Given the description of an element on the screen output the (x, y) to click on. 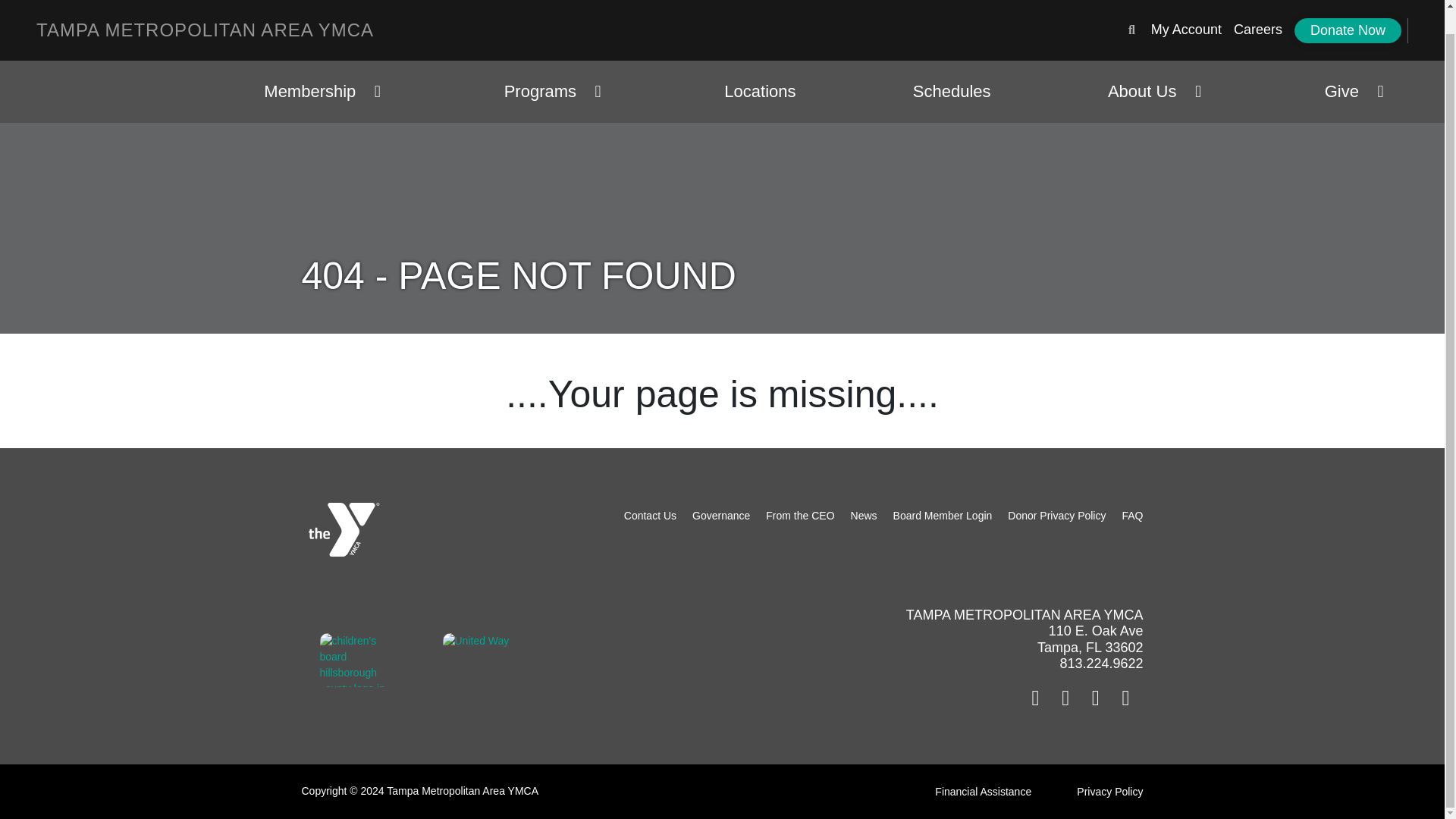
Work at the Tampa Y (1257, 9)
Home (205, 8)
Register for Programs (1186, 9)
